Given the description of an element on the screen output the (x, y) to click on. 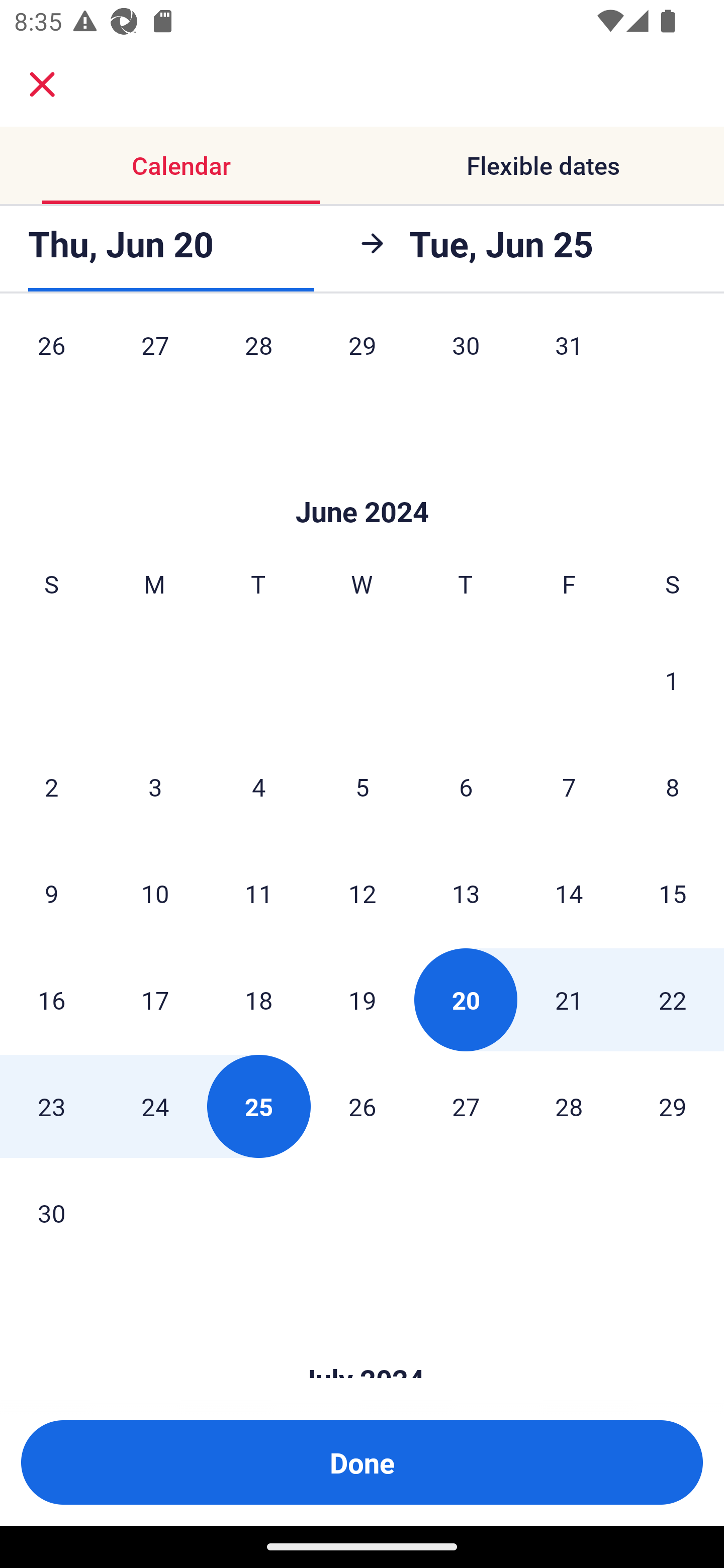
close. (42, 84)
Flexible dates (542, 164)
26 Sunday, May 26, 2024 (51, 358)
27 Monday, May 27, 2024 (155, 358)
28 Tuesday, May 28, 2024 (258, 358)
29 Wednesday, May 29, 2024 (362, 358)
30 Thursday, May 30, 2024 (465, 358)
31 Friday, May 31, 2024 (569, 358)
Skip to Done (362, 481)
1 Saturday, June 1, 2024 (672, 680)
2 Sunday, June 2, 2024 (51, 786)
3 Monday, June 3, 2024 (155, 786)
4 Tuesday, June 4, 2024 (258, 786)
5 Wednesday, June 5, 2024 (362, 786)
6 Thursday, June 6, 2024 (465, 786)
7 Friday, June 7, 2024 (569, 786)
8 Saturday, June 8, 2024 (672, 786)
9 Sunday, June 9, 2024 (51, 893)
10 Monday, June 10, 2024 (155, 893)
11 Tuesday, June 11, 2024 (258, 893)
